Given the description of an element on the screen output the (x, y) to click on. 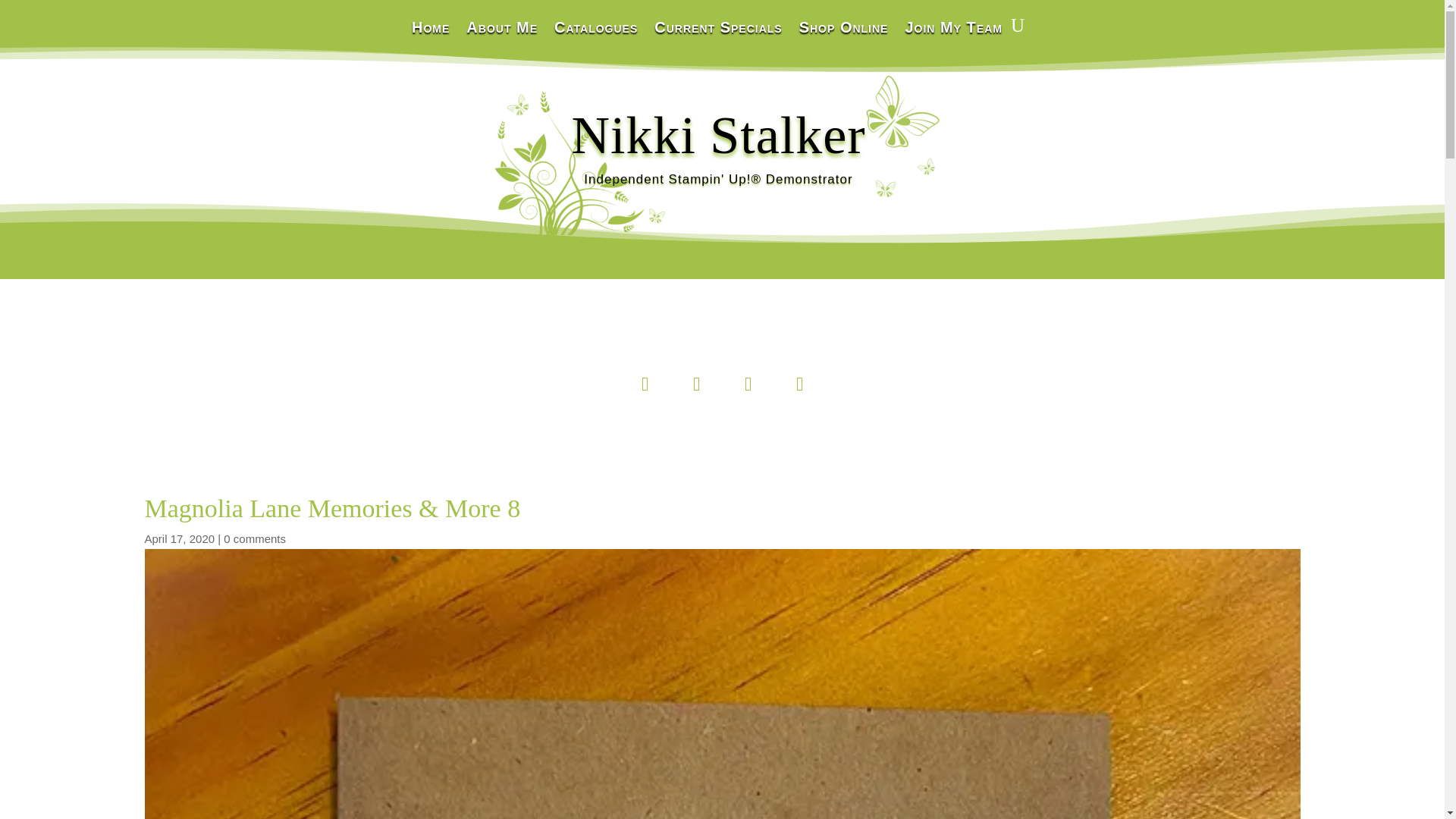
Home (430, 38)
Current Specials (717, 38)
Follow on Facebook (644, 384)
Follow on X (799, 384)
Join My Team (952, 38)
Follow on Pinterest (748, 384)
About Me (501, 38)
Follow on Instagram (697, 384)
Shop Online (843, 38)
Catalogues (595, 38)
0 comments (254, 538)
